Given the description of an element on the screen output the (x, y) to click on. 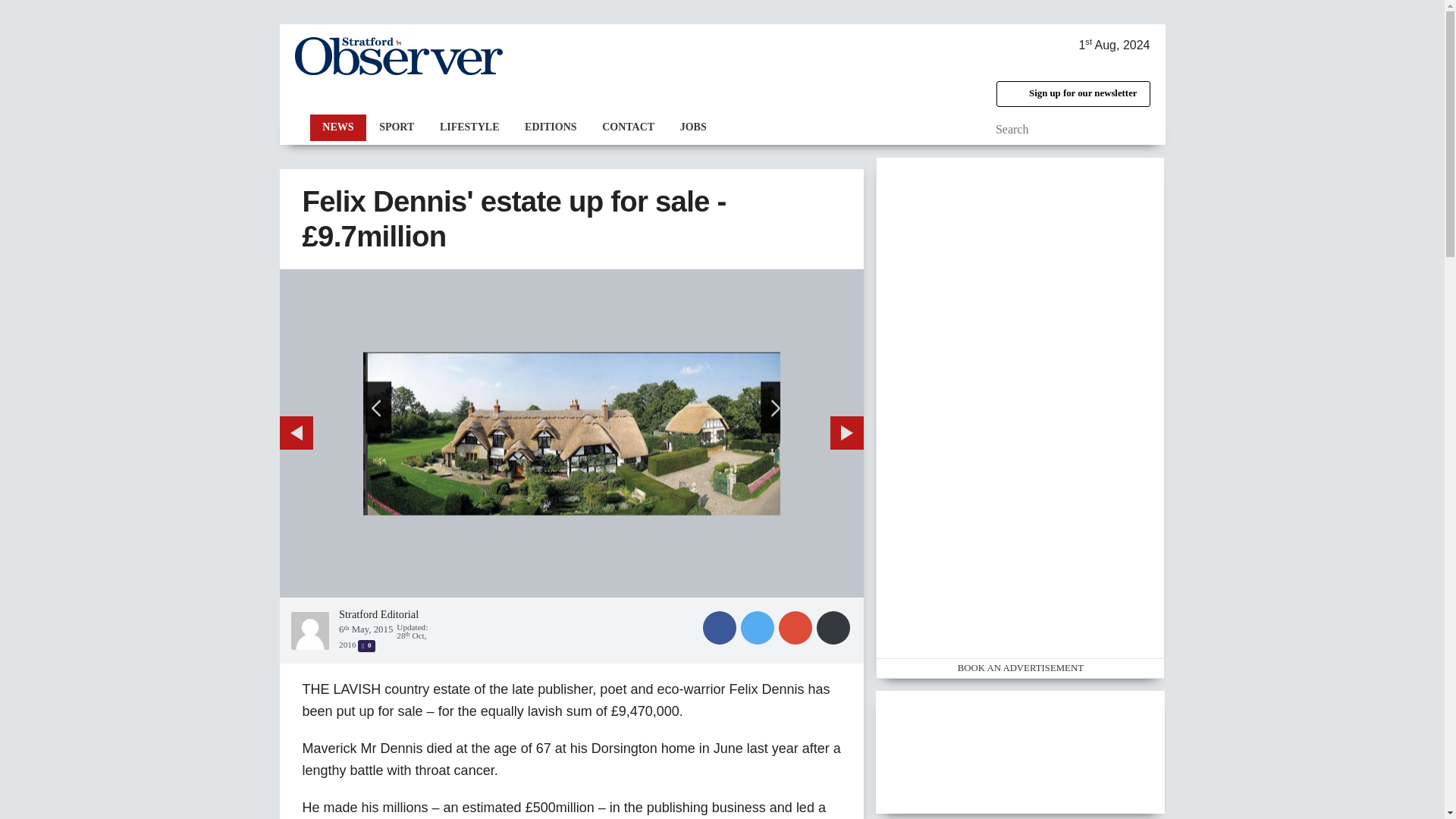
NEWS (337, 127)
JOBS (692, 127)
  Sign up for our newsletter (1072, 94)
EDITIONS (550, 127)
CONTACT (627, 127)
SPORT (396, 127)
LIFESTYLE (469, 127)
The Stratford Observer (398, 55)
